Given the description of an element on the screen output the (x, y) to click on. 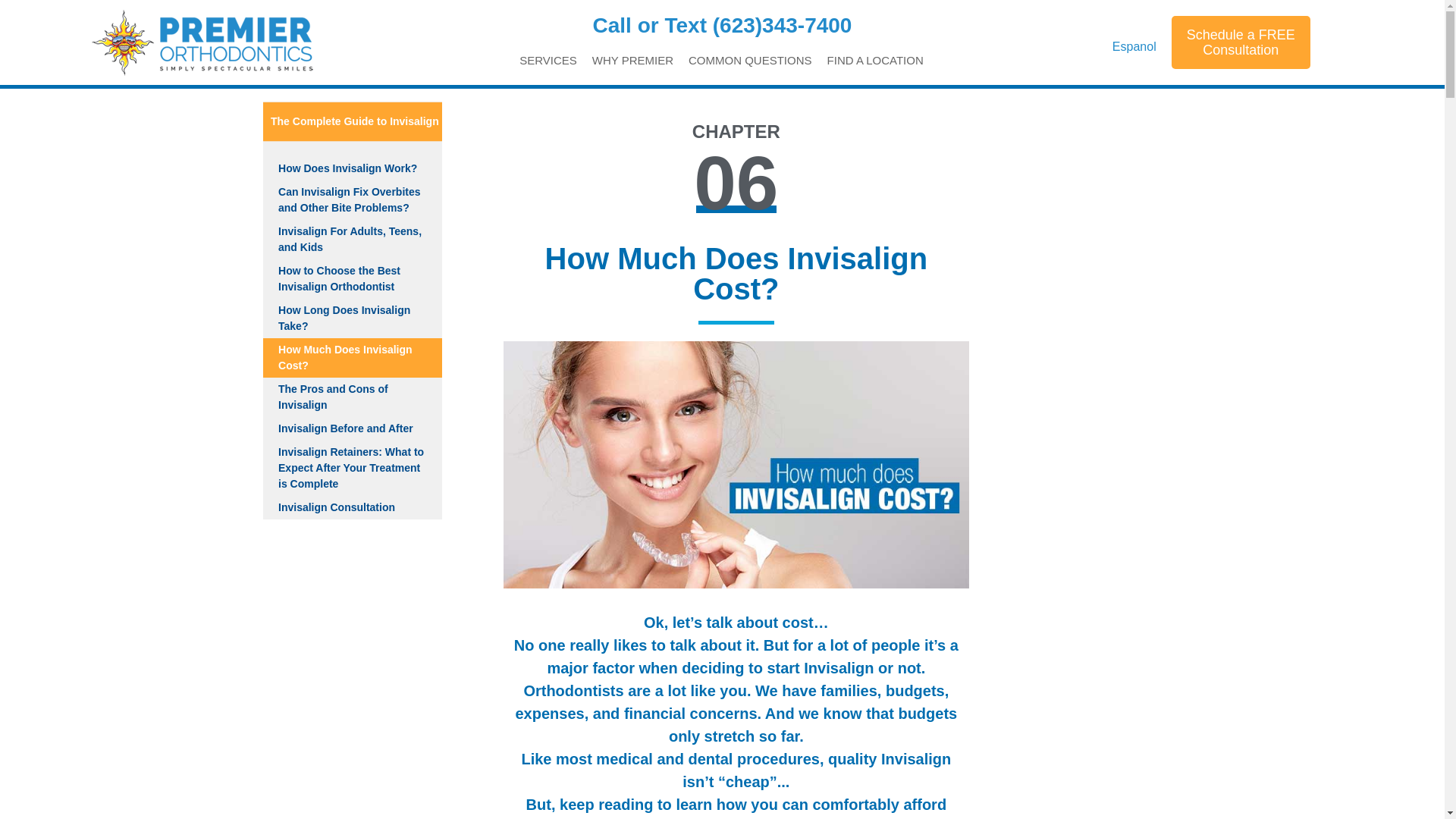
SERVICES (548, 60)
WHY PREMIER (632, 60)
COMMON QUESTIONS (750, 60)
FIND A LOCATION (875, 60)
